Given the description of an element on the screen output the (x, y) to click on. 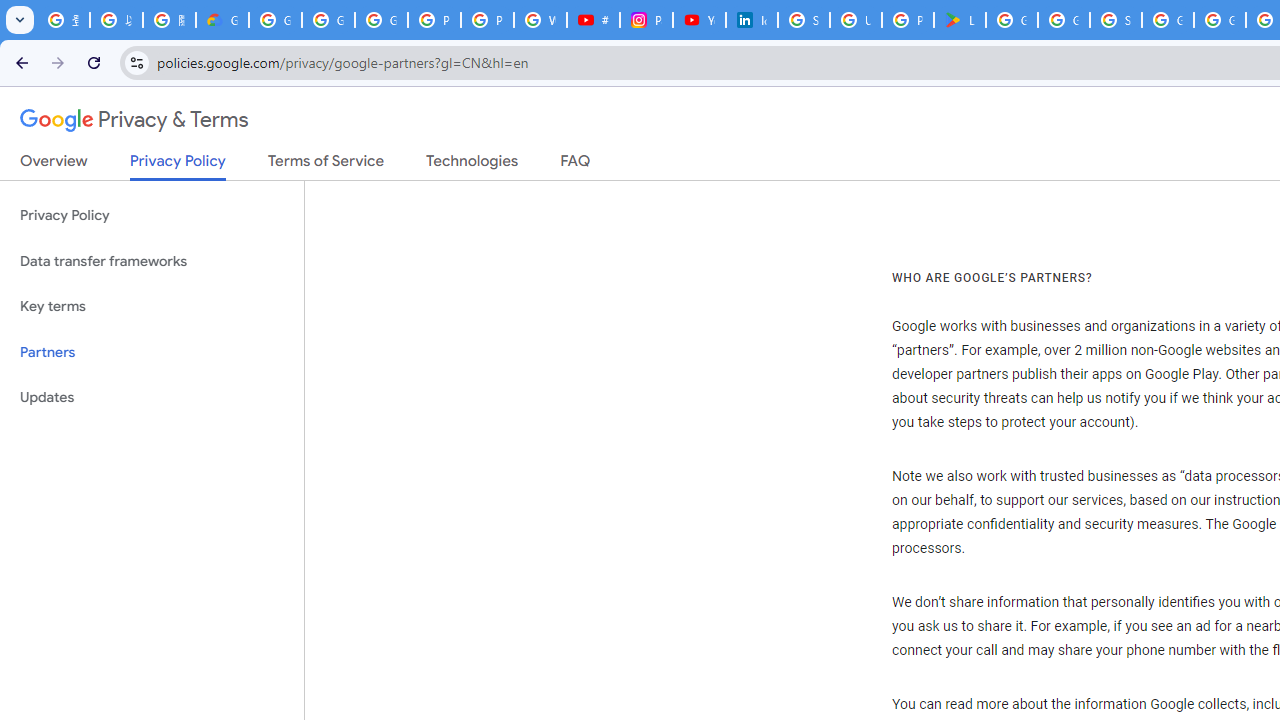
FAQ (575, 165)
Privacy Help Center - Policies Help (487, 20)
Technologies (472, 165)
YouTube Culture & Trends - On The Rise: Handcam Videos (699, 20)
Sign in - Google Accounts (803, 20)
